Given the description of an element on the screen output the (x, y) to click on. 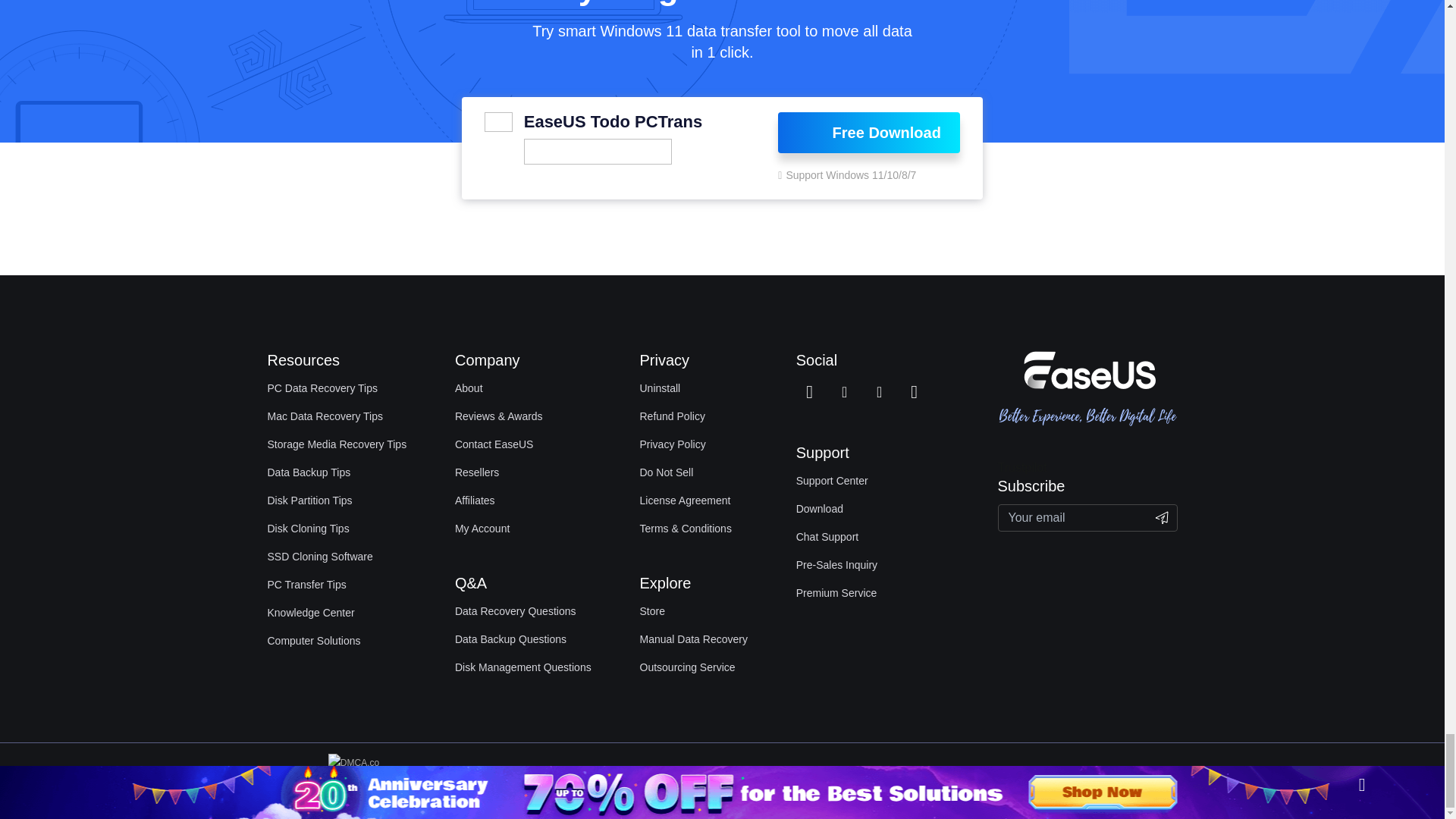
DMCA.com Protection Status (358, 779)
